Given the description of an element on the screen output the (x, y) to click on. 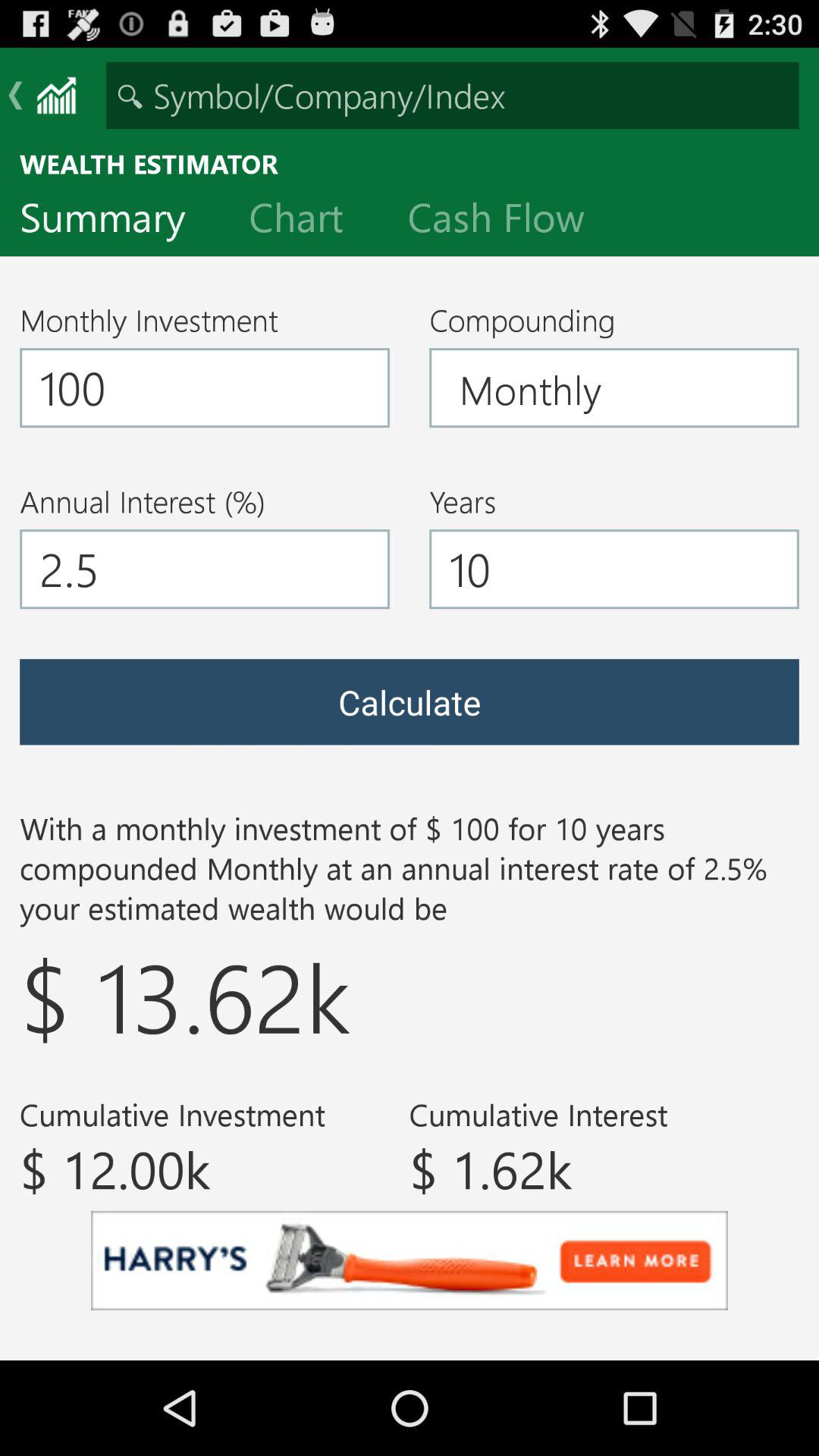
open the icon above with a monthly icon (409, 702)
